Given the description of an element on the screen output the (x, y) to click on. 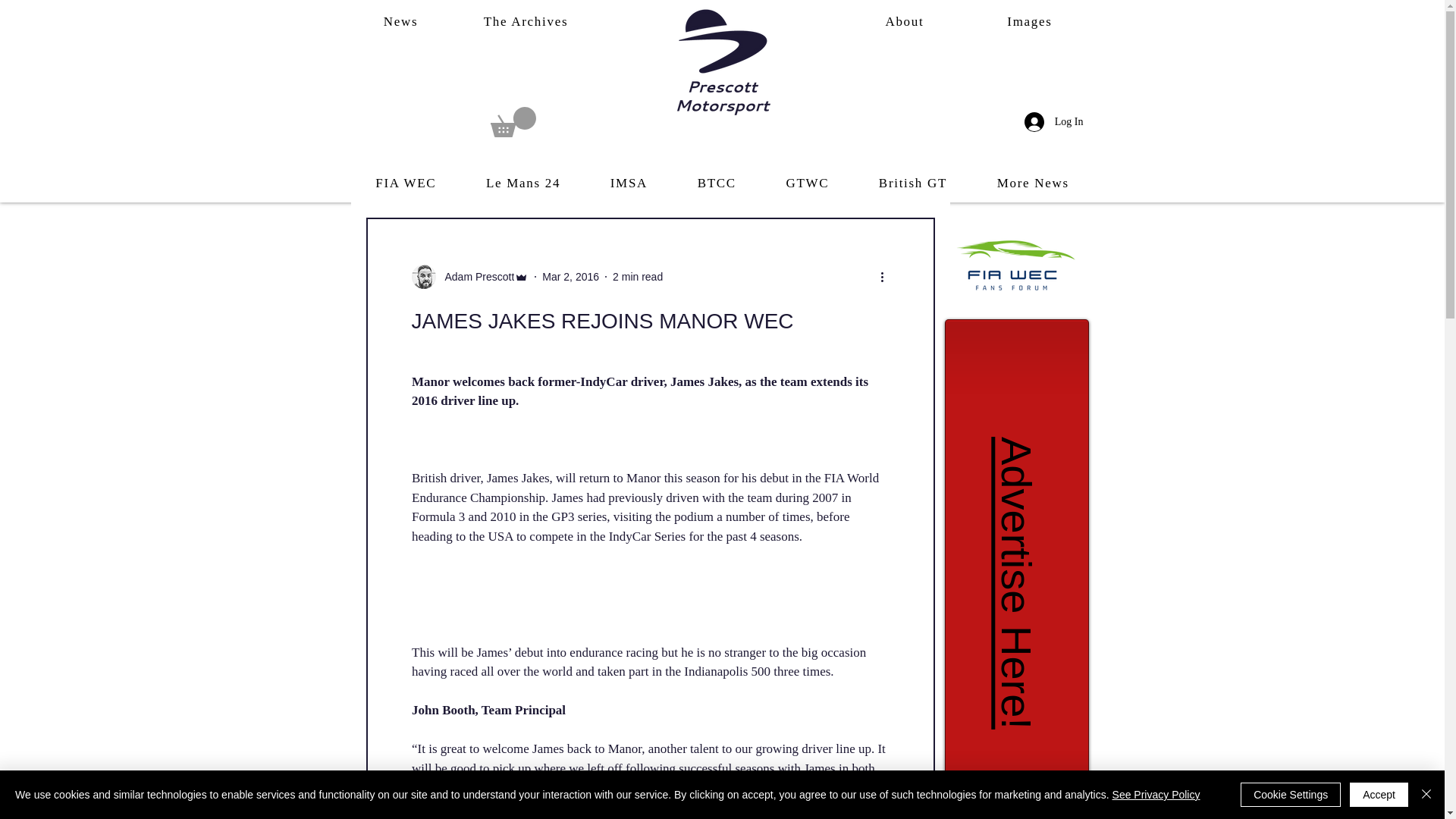
Images (1029, 22)
GTWC (807, 183)
British GT (912, 183)
BTCC (716, 183)
2.png (1016, 264)
IMSA (628, 183)
Adam Prescott (474, 277)
Le Mans 24 (523, 183)
The Archives (524, 22)
News (399, 22)
About (904, 22)
Adam Prescott (469, 276)
FIA WEC (405, 183)
2 min read (637, 276)
Log In (1053, 121)
